Given the description of an element on the screen output the (x, y) to click on. 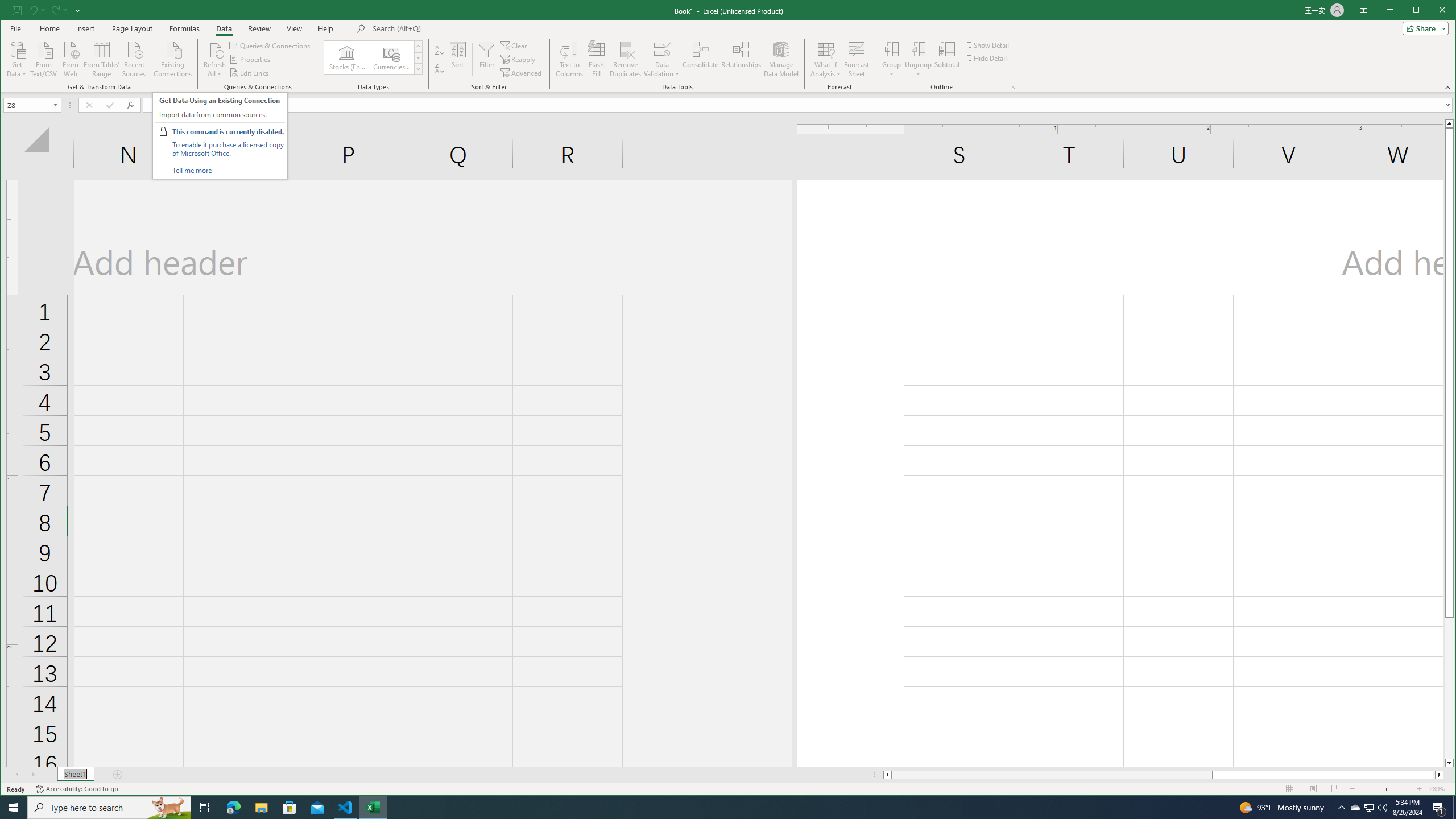
This command is currently disabled. (228, 131)
Task View (204, 807)
Type here to search (108, 807)
